Given the description of an element on the screen output the (x, y) to click on. 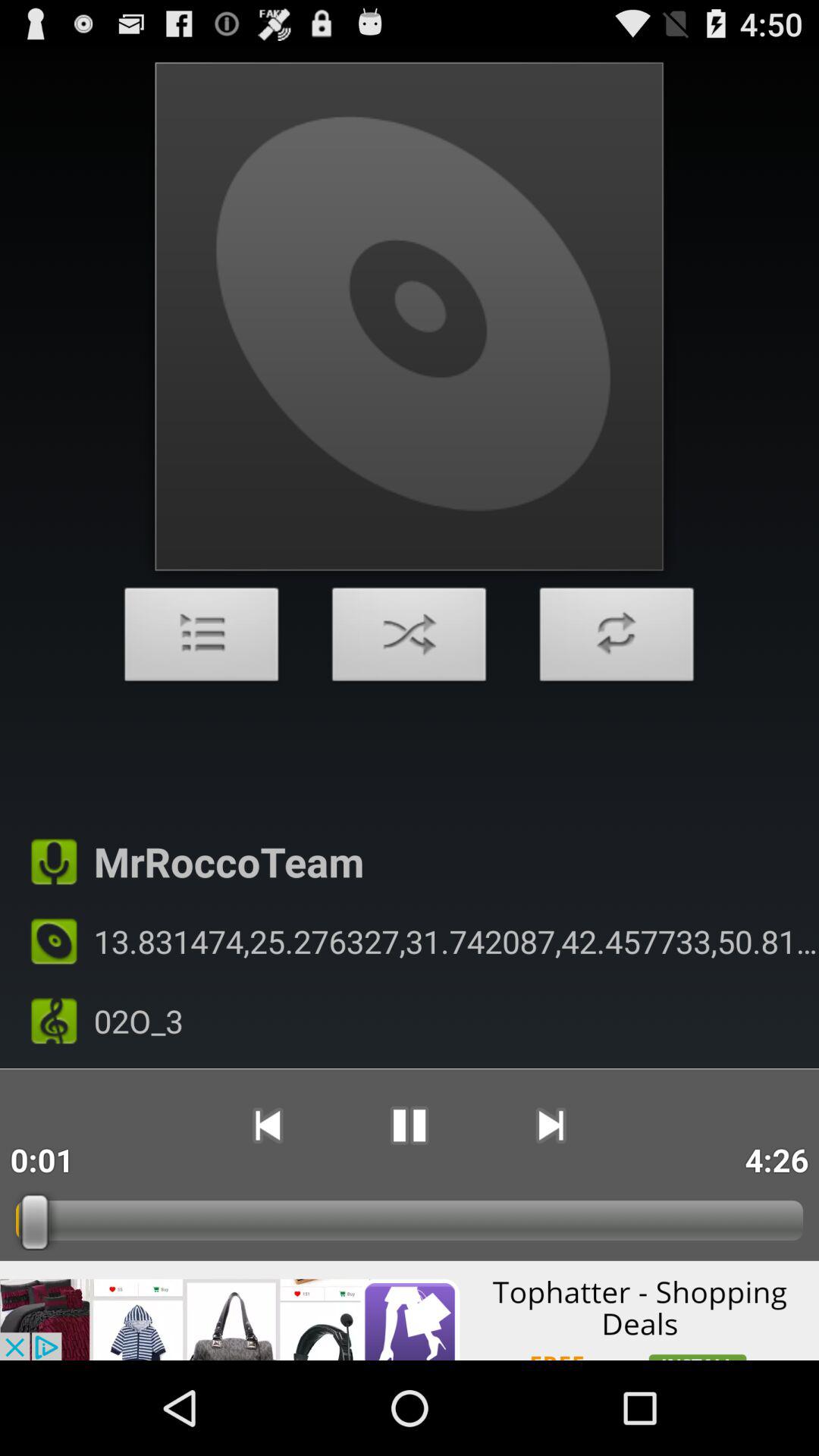
toggle repeat option (616, 638)
